Given the description of an element on the screen output the (x, y) to click on. 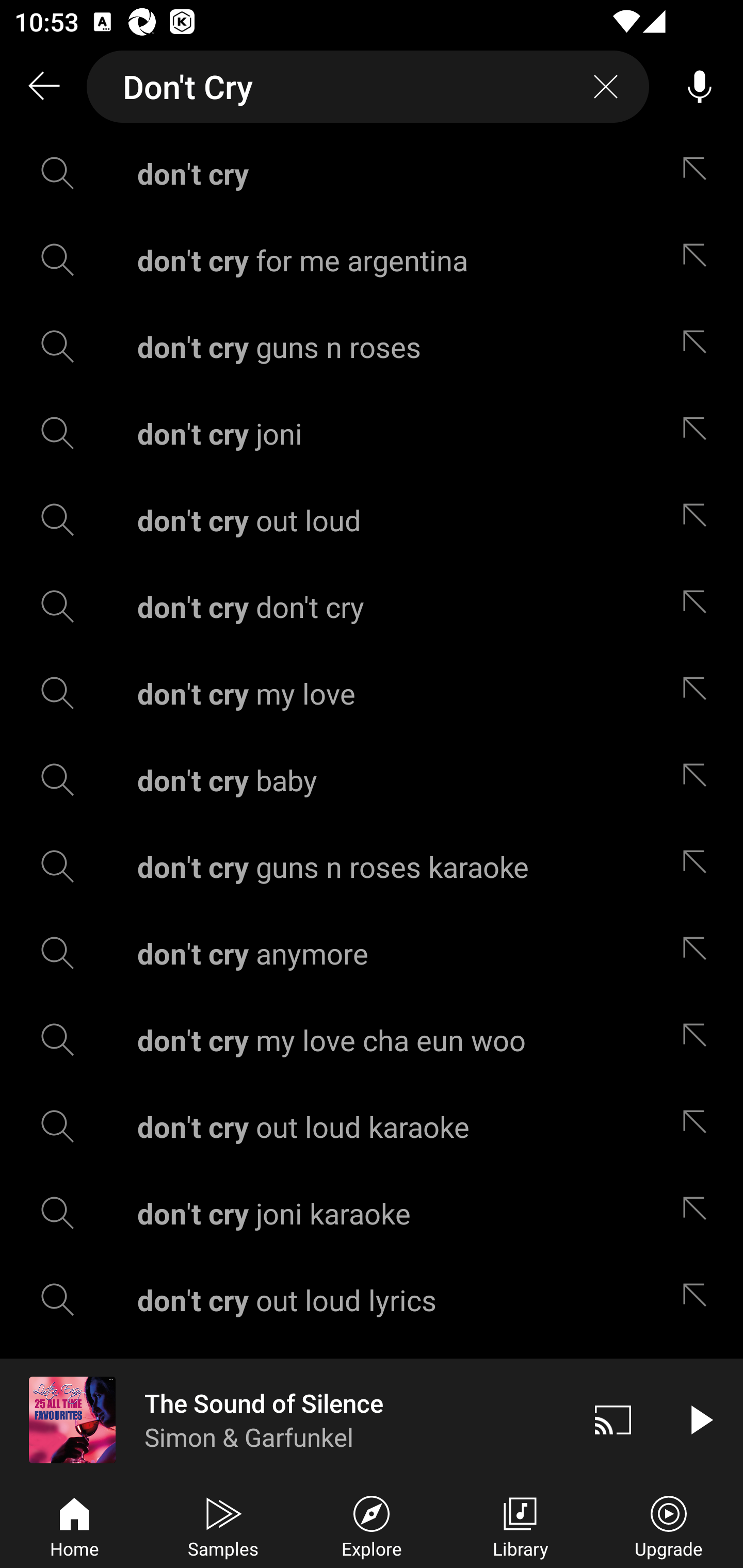
Search back (43, 86)
Don't Cry (367, 86)
Clear search (605, 86)
Voice search (699, 86)
don't cry Edit suggestion don't cry (371, 173)
Edit suggestion don't cry (699, 173)
Edit suggestion don't cry for me argentina (699, 259)
Edit suggestion don't cry guns n roses (699, 346)
don't cry joni Edit suggestion don't cry joni (371, 433)
Edit suggestion don't cry joni (699, 433)
Edit suggestion don't cry out loud (699, 519)
Edit suggestion don't cry don't cry (699, 605)
Edit suggestion don't cry my love (699, 692)
don't cry baby Edit suggestion don't cry baby (371, 779)
Edit suggestion don't cry baby (699, 779)
Edit suggestion don't cry guns n roses karaoke (699, 866)
Edit suggestion don't cry anymore (699, 953)
Edit suggestion don't cry my love cha eun woo (699, 1040)
Edit suggestion don't cry out loud karaoke (699, 1126)
Edit suggestion don't cry joni karaoke (699, 1212)
Edit suggestion don't cry out loud lyrics (699, 1299)
The Sound of Silence Simon & Garfunkel (284, 1419)
Cast. Disconnected (612, 1419)
Play video (699, 1419)
Home (74, 1524)
Samples (222, 1524)
Explore (371, 1524)
Library (519, 1524)
Upgrade (668, 1524)
